Given the description of an element on the screen output the (x, y) to click on. 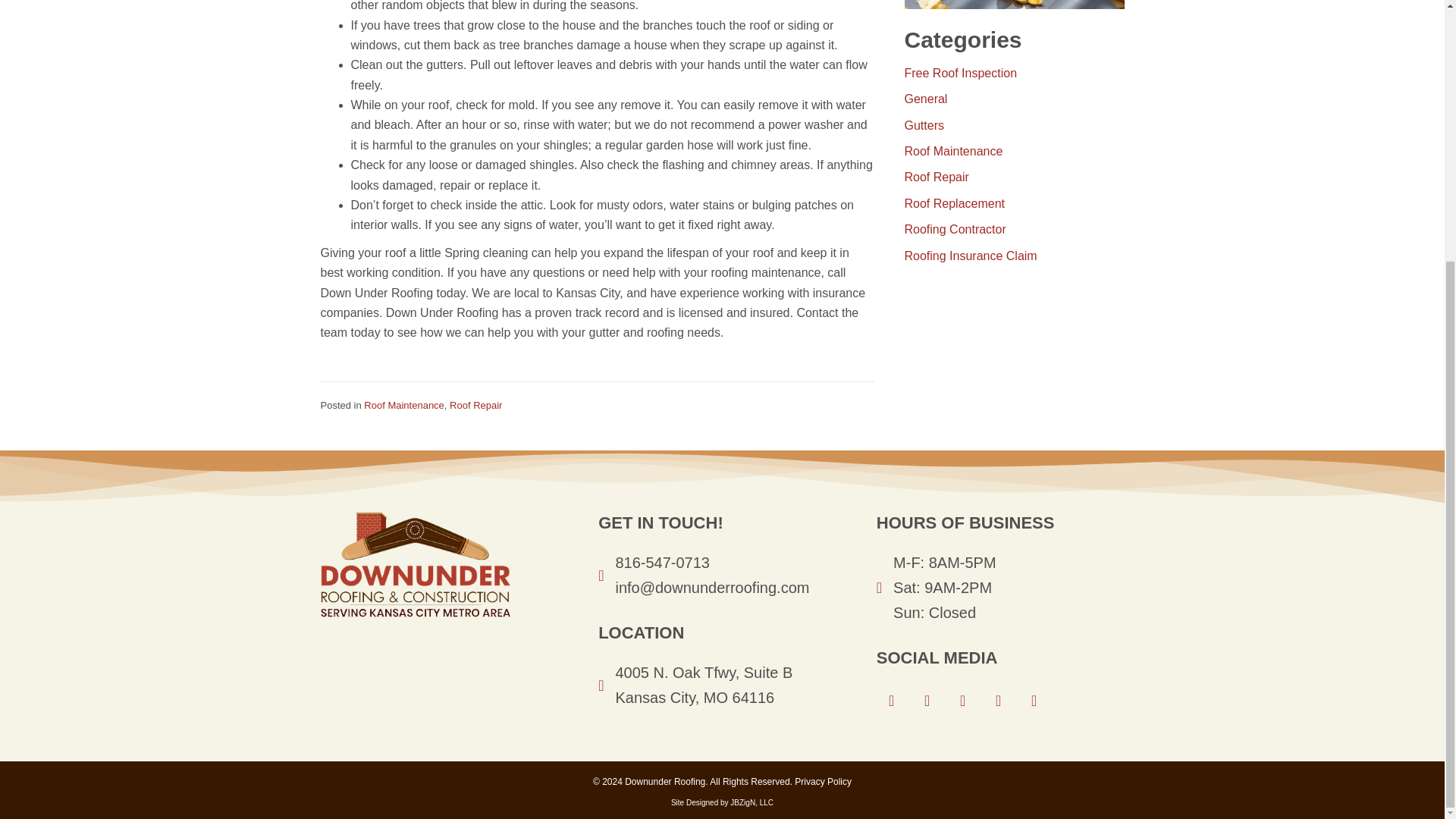
General (925, 98)
816-547-0713 (662, 562)
Pinterest (927, 700)
Roof Maintenance (404, 405)
Houzz (998, 700)
Roofing Contractor (955, 228)
Man cleaning the gutter (1014, 4)
Roof Maintenance (953, 151)
Porch (1034, 700)
Twitter (962, 700)
